Given the description of an element on the screen output the (x, y) to click on. 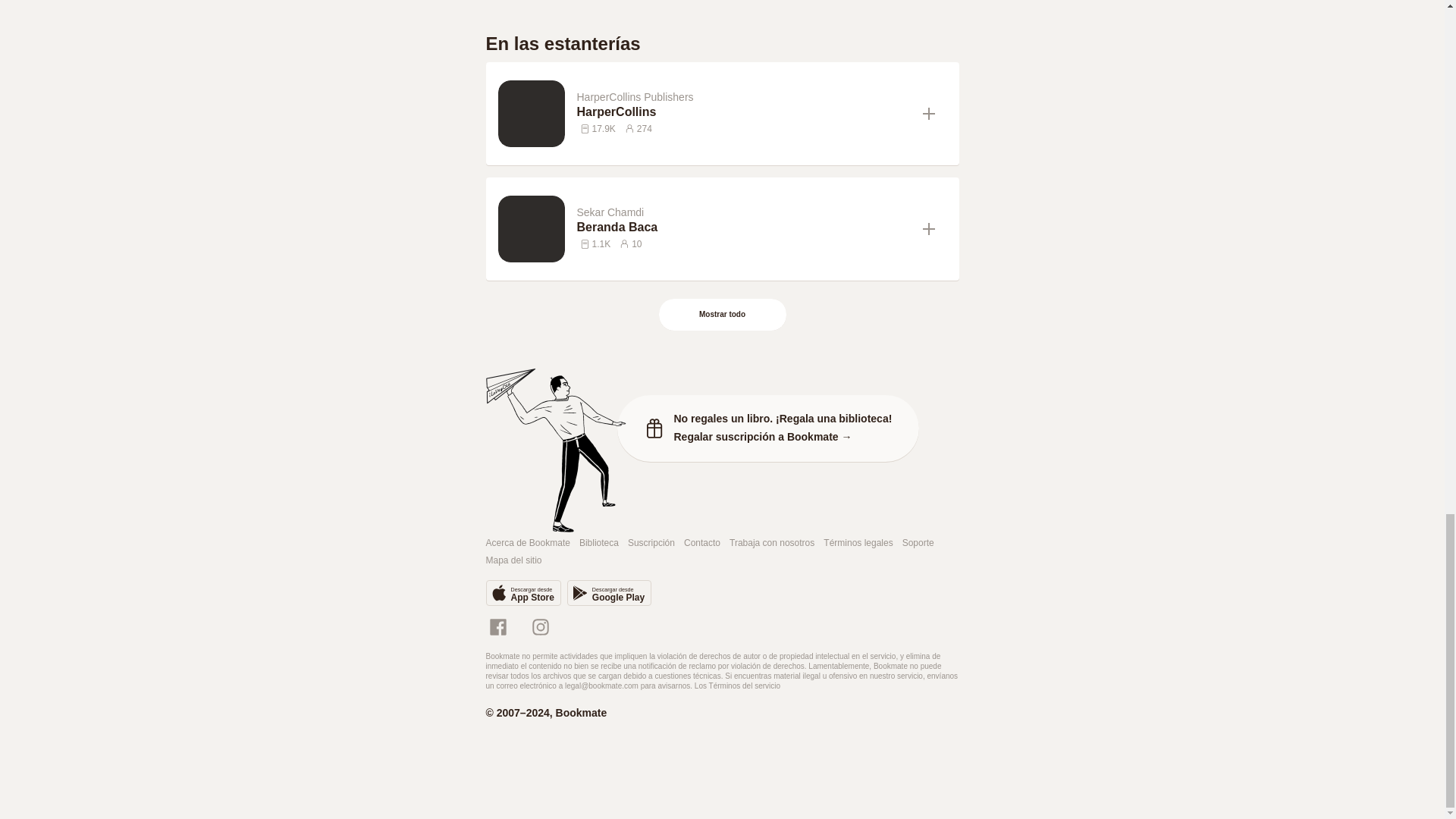
Trabaja con nosotros (771, 542)
Mostrar todo (722, 314)
Mostrar todo (722, 314)
Beranda Baca (743, 227)
Contacto (702, 542)
HarperCollins (743, 111)
Beranda Baca (743, 227)
Biblioteca (598, 542)
Acerca de Bookmate (526, 542)
HarperCollins  (743, 111)
